Given the description of an element on the screen output the (x, y) to click on. 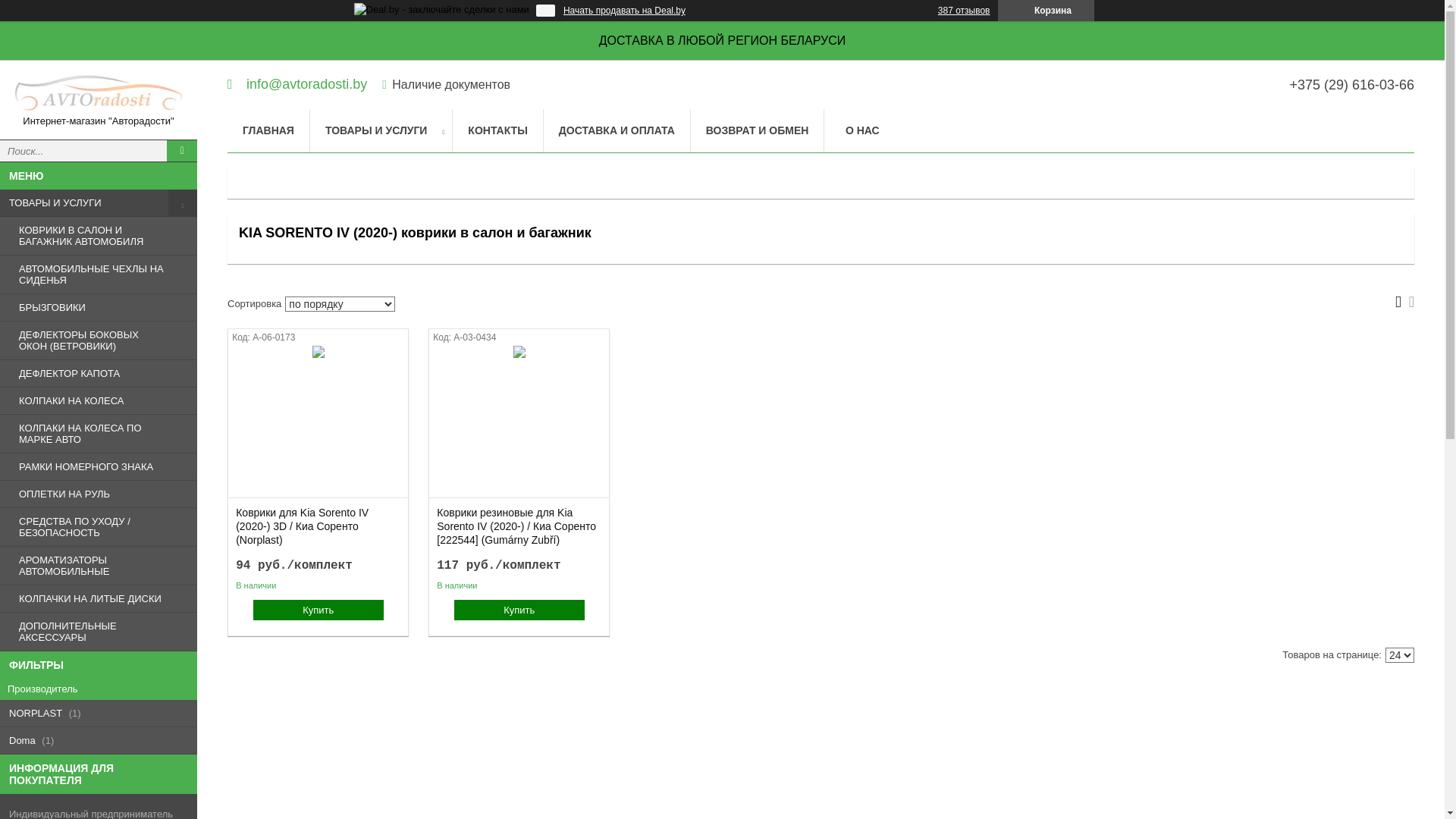
info@avtoradosti.by Element type: text (297, 83)
